Given the description of an element on the screen output the (x, y) to click on. 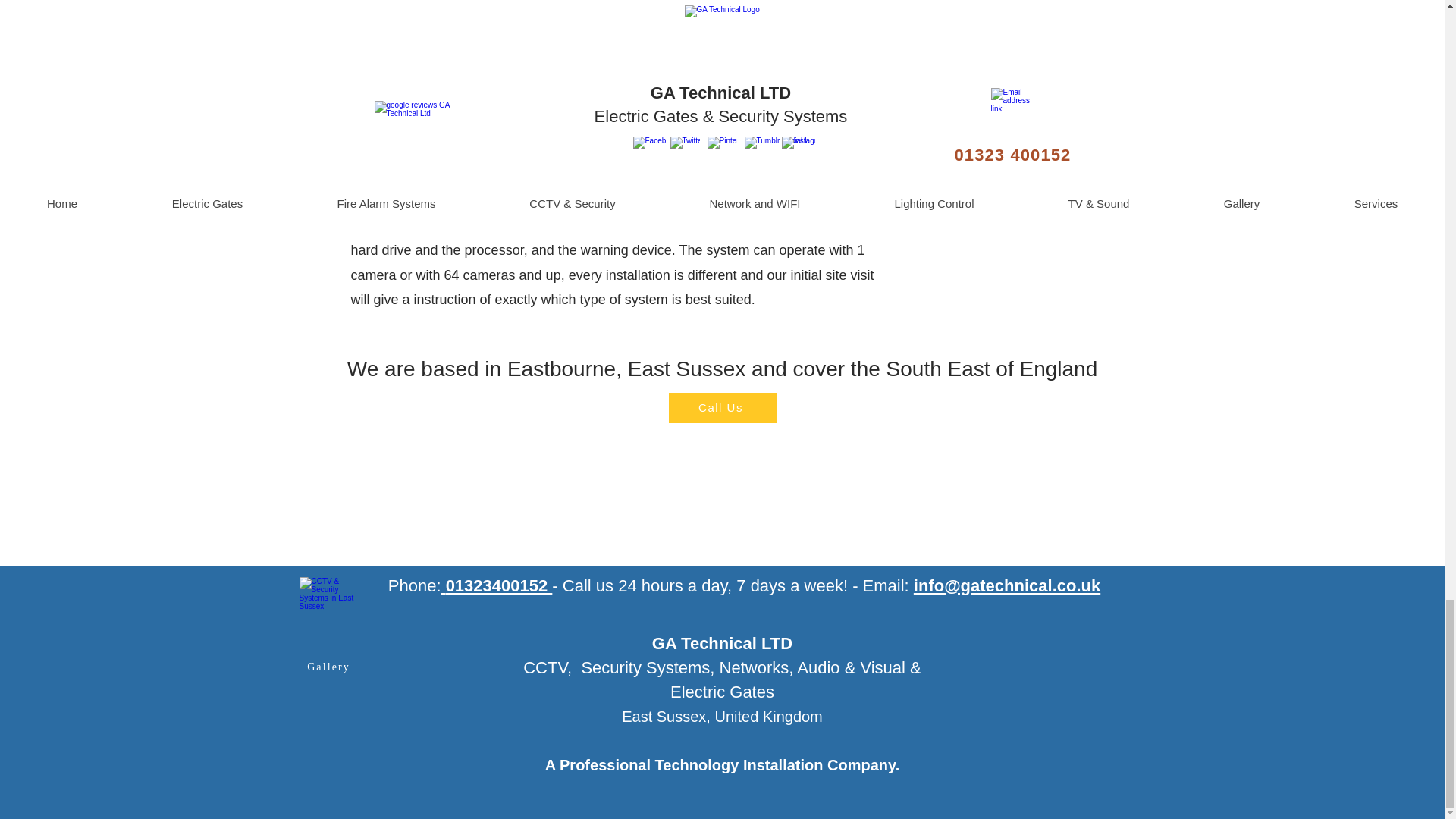
Call Us (722, 408)
Gallery (328, 666)
GA Technical LTD (722, 642)
01323400152 (497, 585)
